Given the description of an element on the screen output the (x, y) to click on. 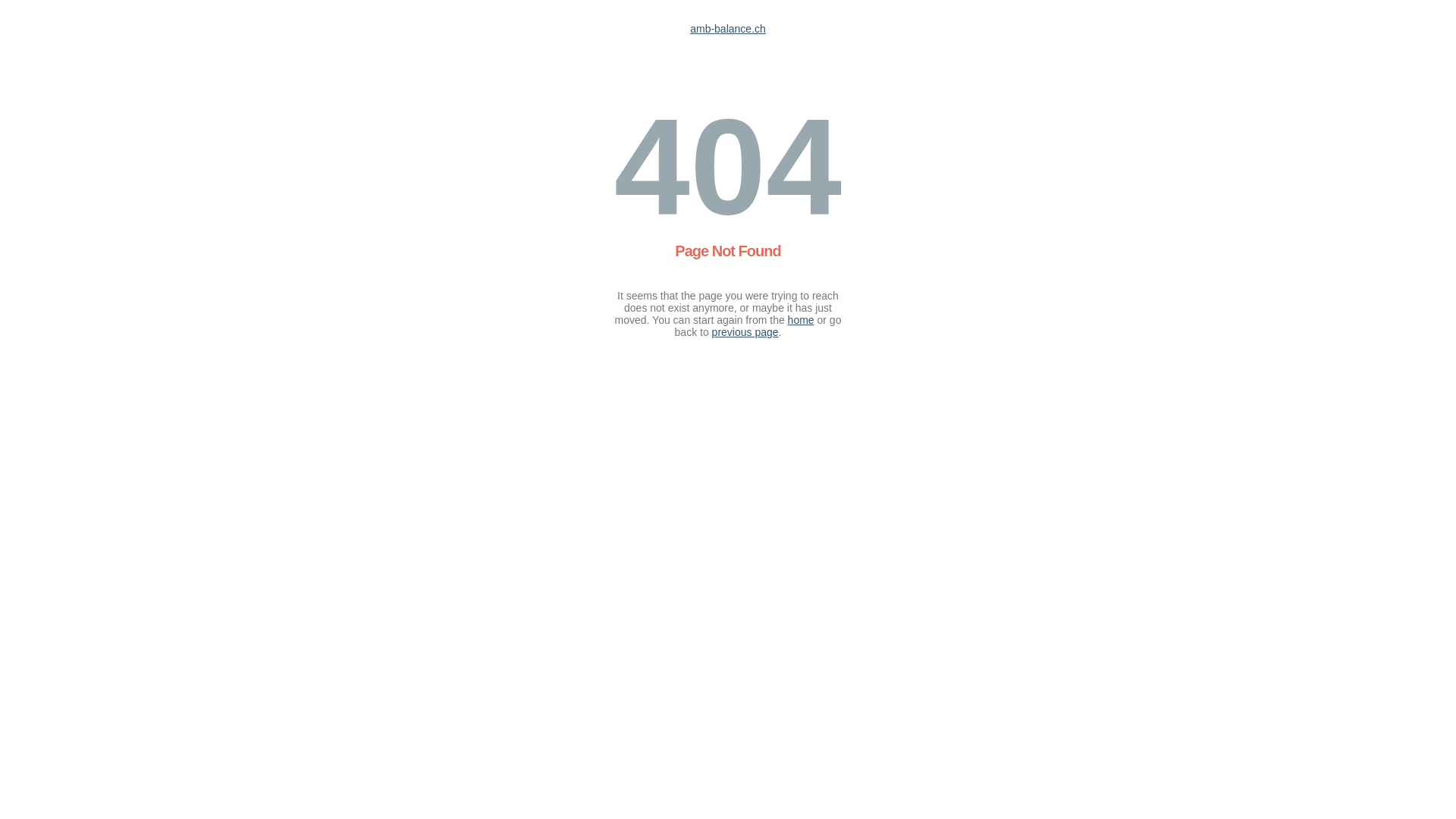
home Element type: text (800, 319)
previous page Element type: text (745, 332)
amb-balance.ch Element type: text (727, 28)
